Given the description of an element on the screen output the (x, y) to click on. 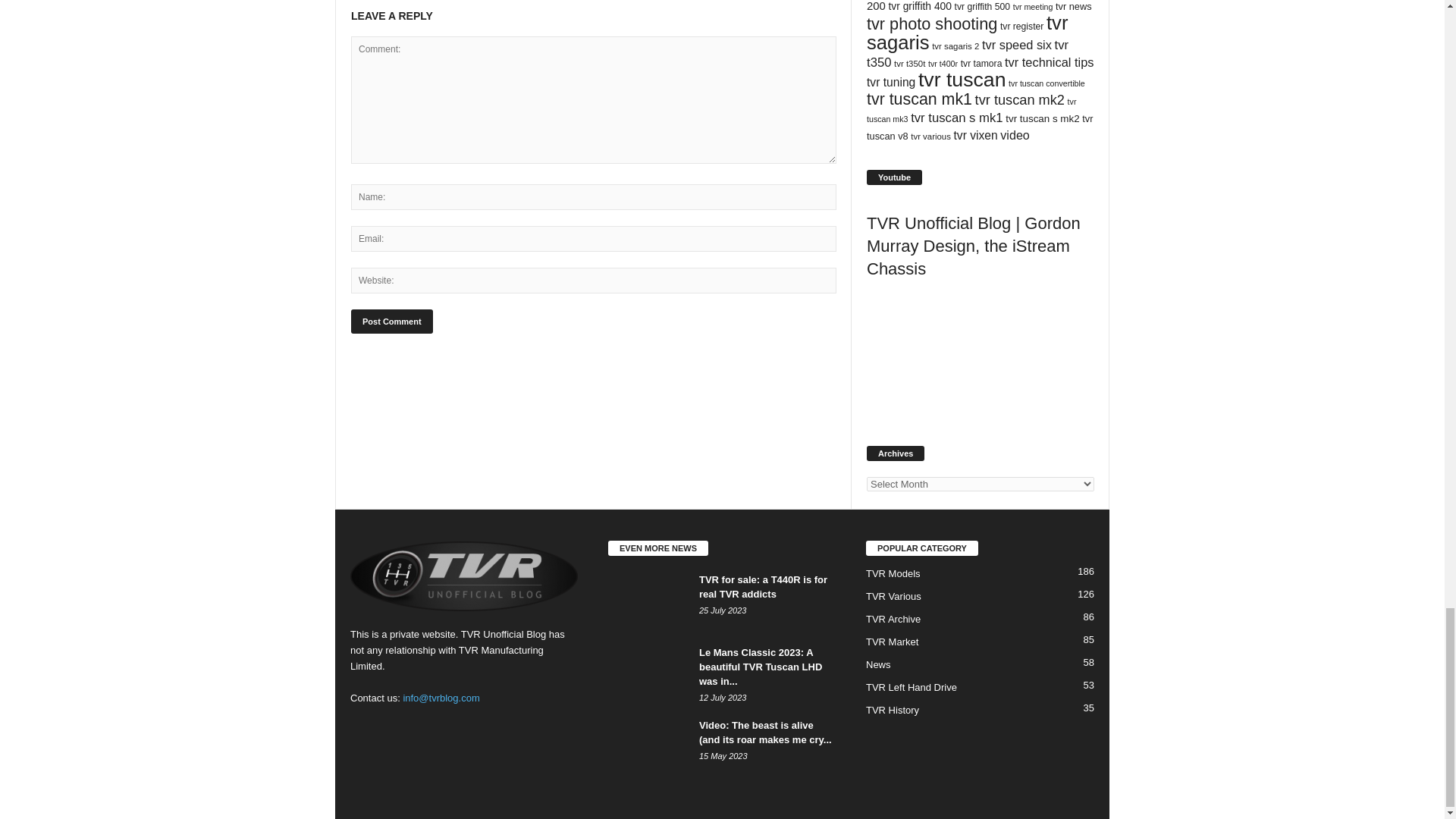
Post Comment (391, 321)
